Given the description of an element on the screen output the (x, y) to click on. 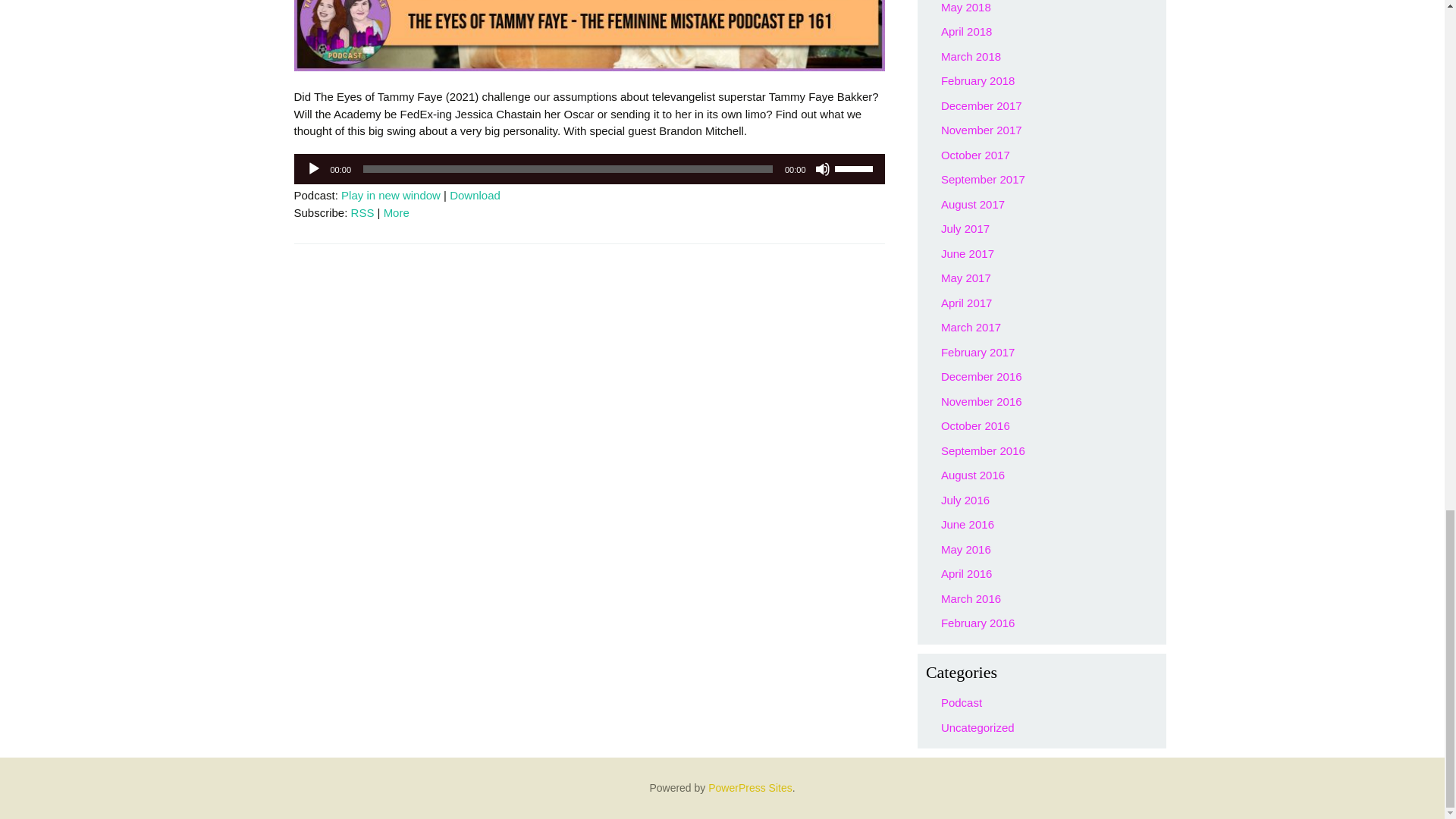
More (396, 212)
Play in new window (390, 195)
Download (474, 195)
Play (313, 168)
Download (474, 195)
Mute (821, 168)
Play in new window (390, 195)
Subscribe via RSS (362, 212)
